Given the description of an element on the screen output the (x, y) to click on. 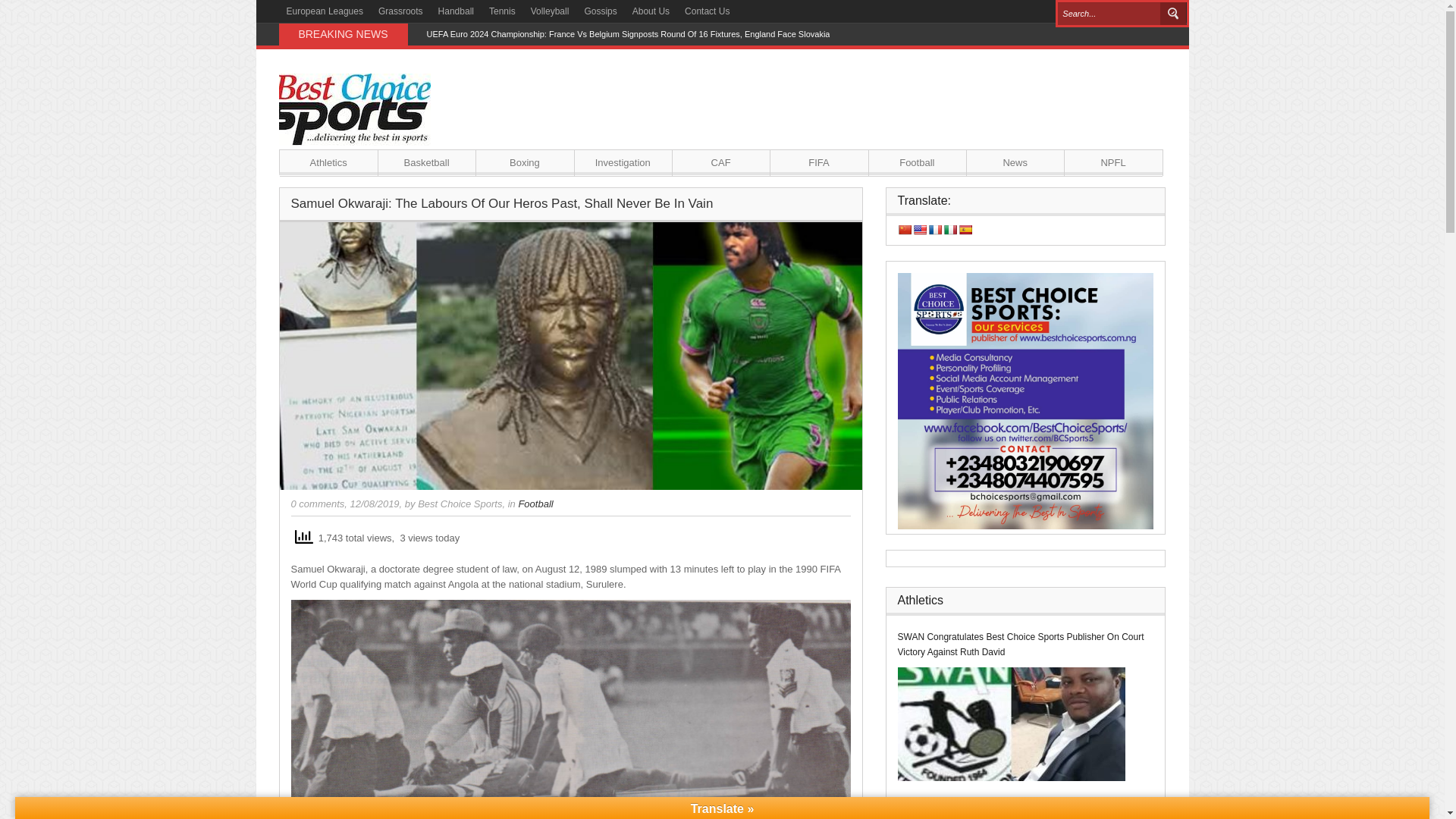
English (919, 229)
Search (1173, 13)
Athletics (328, 162)
Best Choice Sports (459, 503)
About Us (650, 11)
European Leagues (325, 11)
Handball (455, 11)
NPFL (1112, 162)
French (935, 229)
Basketball (426, 162)
Italian (949, 229)
Tennis (501, 11)
Volleyball (549, 11)
Football (535, 503)
